Given the description of an element on the screen output the (x, y) to click on. 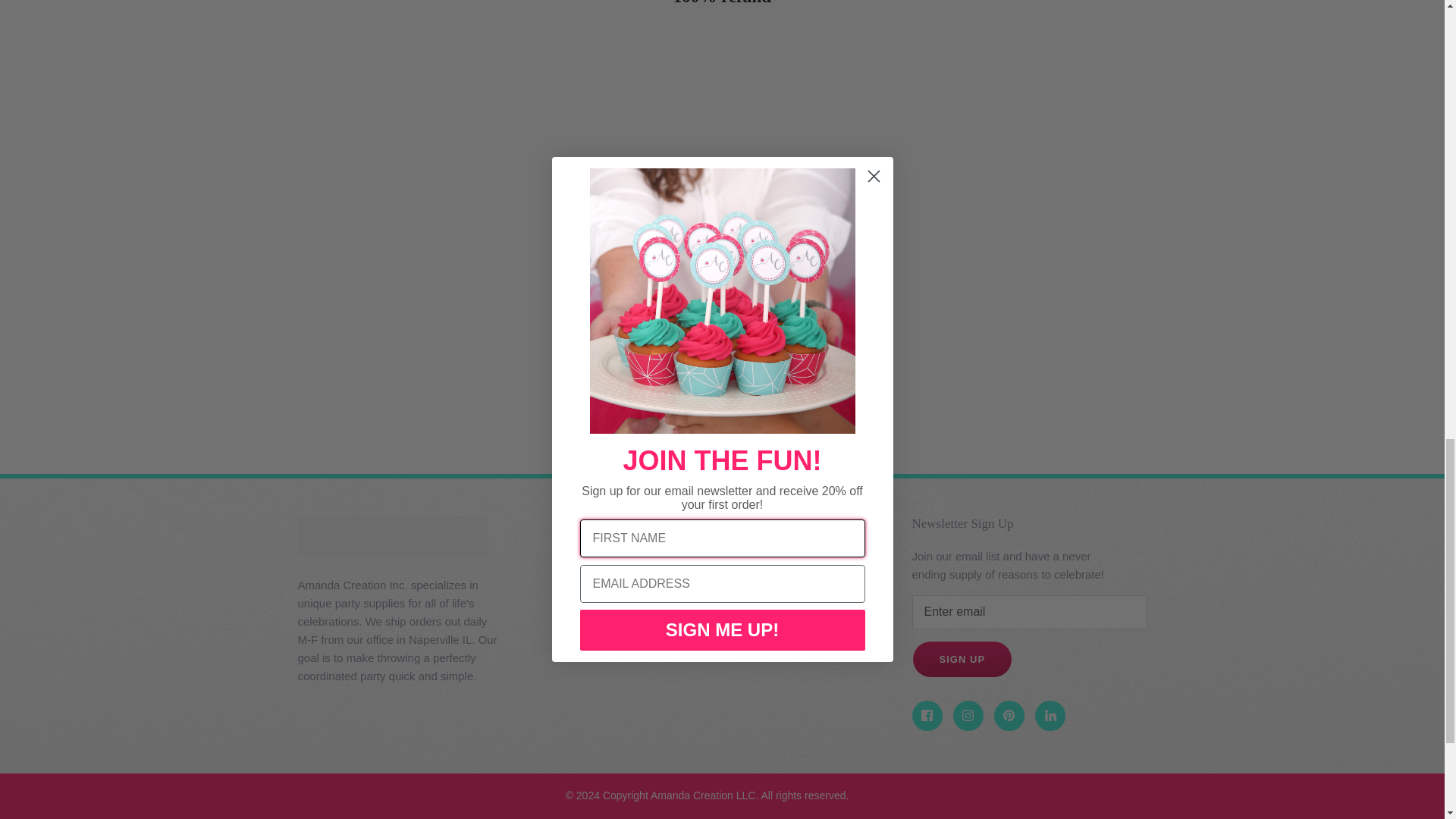
Pinterest (1008, 715)
Facebook (927, 715)
Instagram (968, 715)
